Given the description of an element on the screen output the (x, y) to click on. 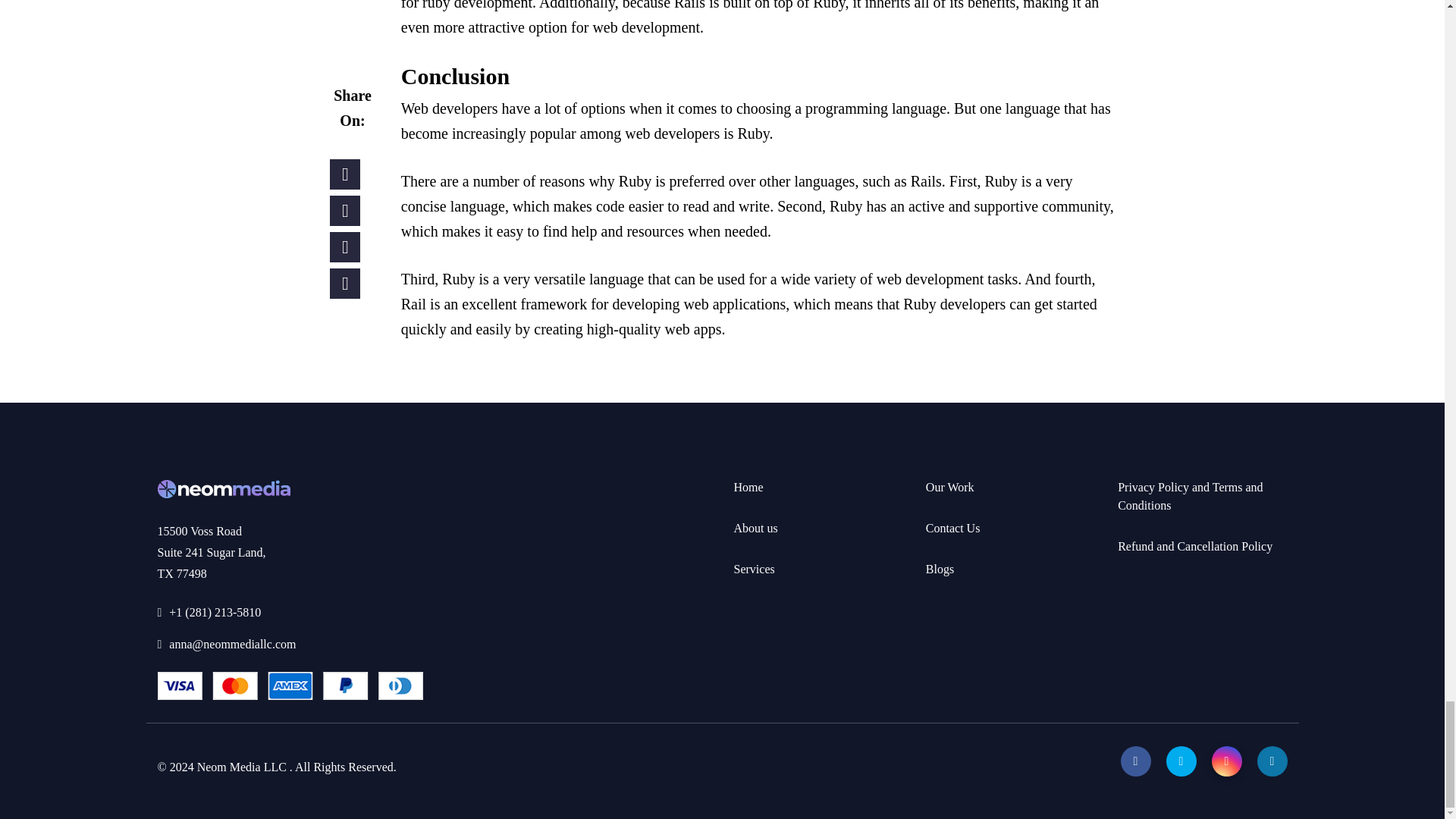
About us (755, 527)
Our Work (950, 486)
Home (747, 486)
Blogs (939, 568)
Services (753, 568)
Contact Us (290, 549)
